Given the description of an element on the screen output the (x, y) to click on. 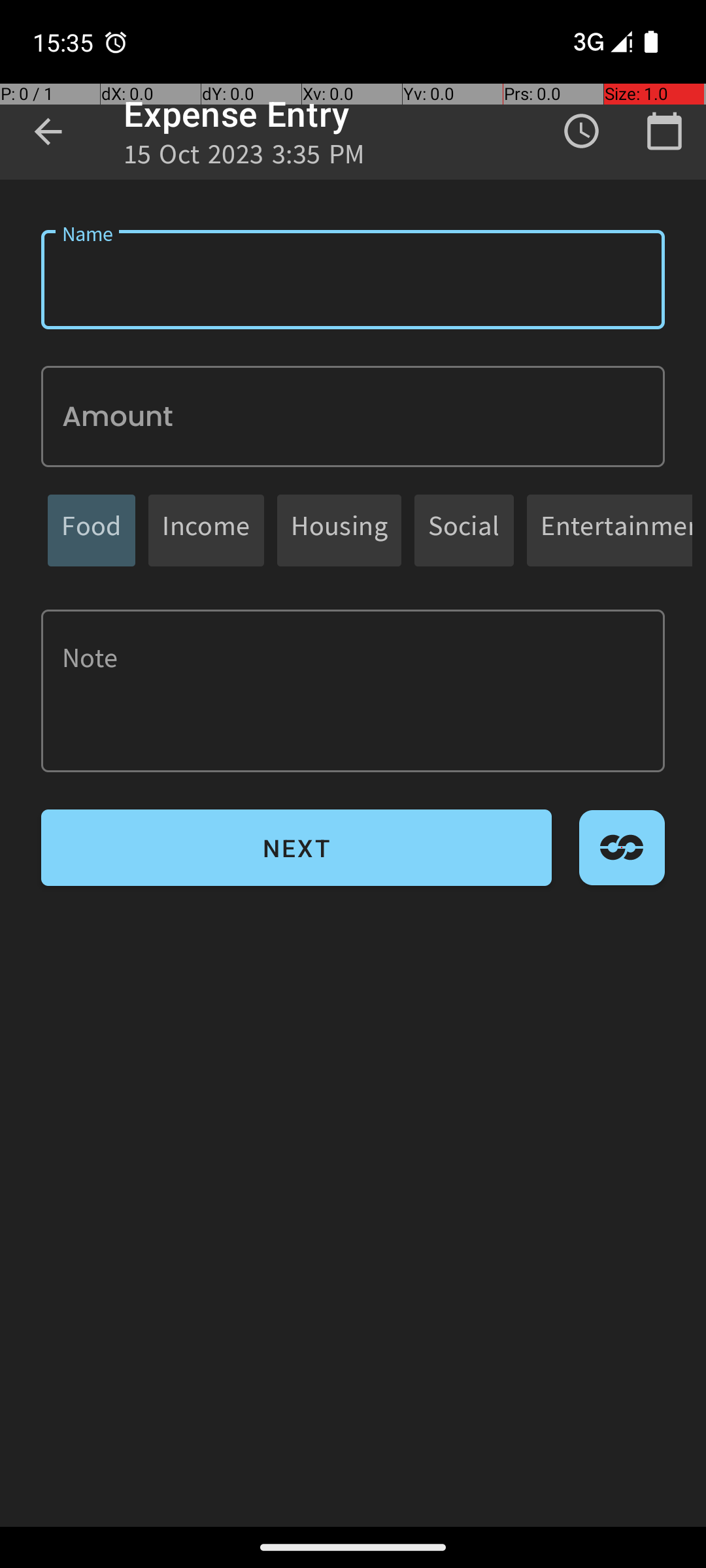
15 Oct 2023 3:35 PM Element type: android.widget.TextView (244, 157)
